Given the description of an element on the screen output the (x, y) to click on. 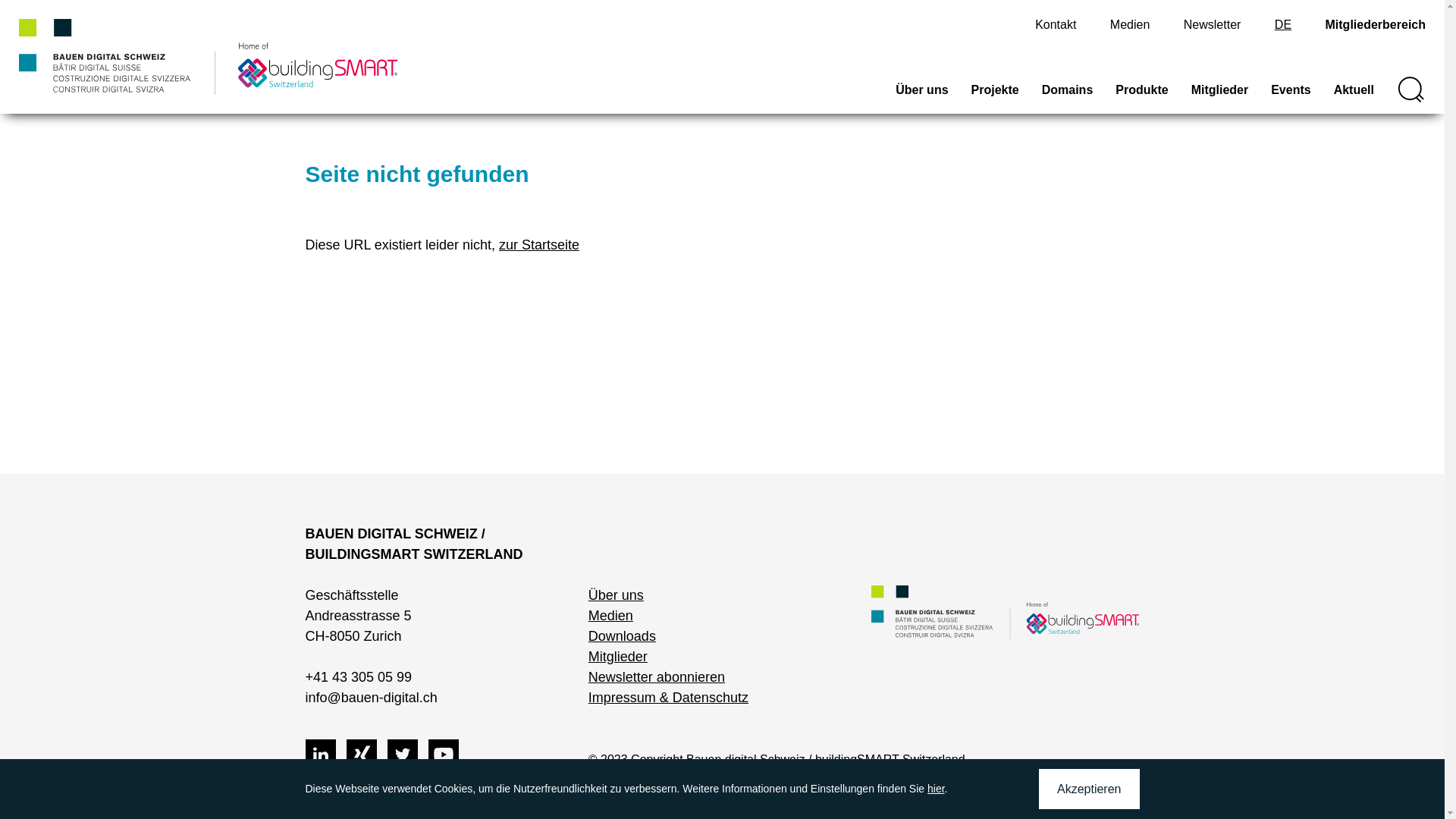
Kontakt Element type: text (1055, 24)
DE Element type: text (1282, 24)
Akzeptieren Element type: text (1088, 788)
Downloads Element type: text (621, 635)
Mitglieder Element type: text (617, 656)
info@bauen-digital.ch Element type: text (370, 697)
Aktuell Element type: text (1353, 96)
Medien Element type: text (610, 615)
zur Startseite Element type: text (538, 244)
Newsletter abonnieren Element type: text (656, 676)
hier Element type: text (935, 788)
+41 43 305 05 99 Element type: text (357, 676)
Medien Element type: text (1129, 24)
Domains Element type: text (1067, 96)
Mitglieder Element type: text (1219, 96)
Produkte Element type: text (1141, 96)
Mitgliederbereich Element type: text (1375, 24)
Impressum & Datenschutz Element type: text (668, 697)
Events Element type: text (1290, 96)
Projekte Element type: text (995, 96)
Newsletter Element type: text (1212, 24)
